Given the description of an element on the screen output the (x, y) to click on. 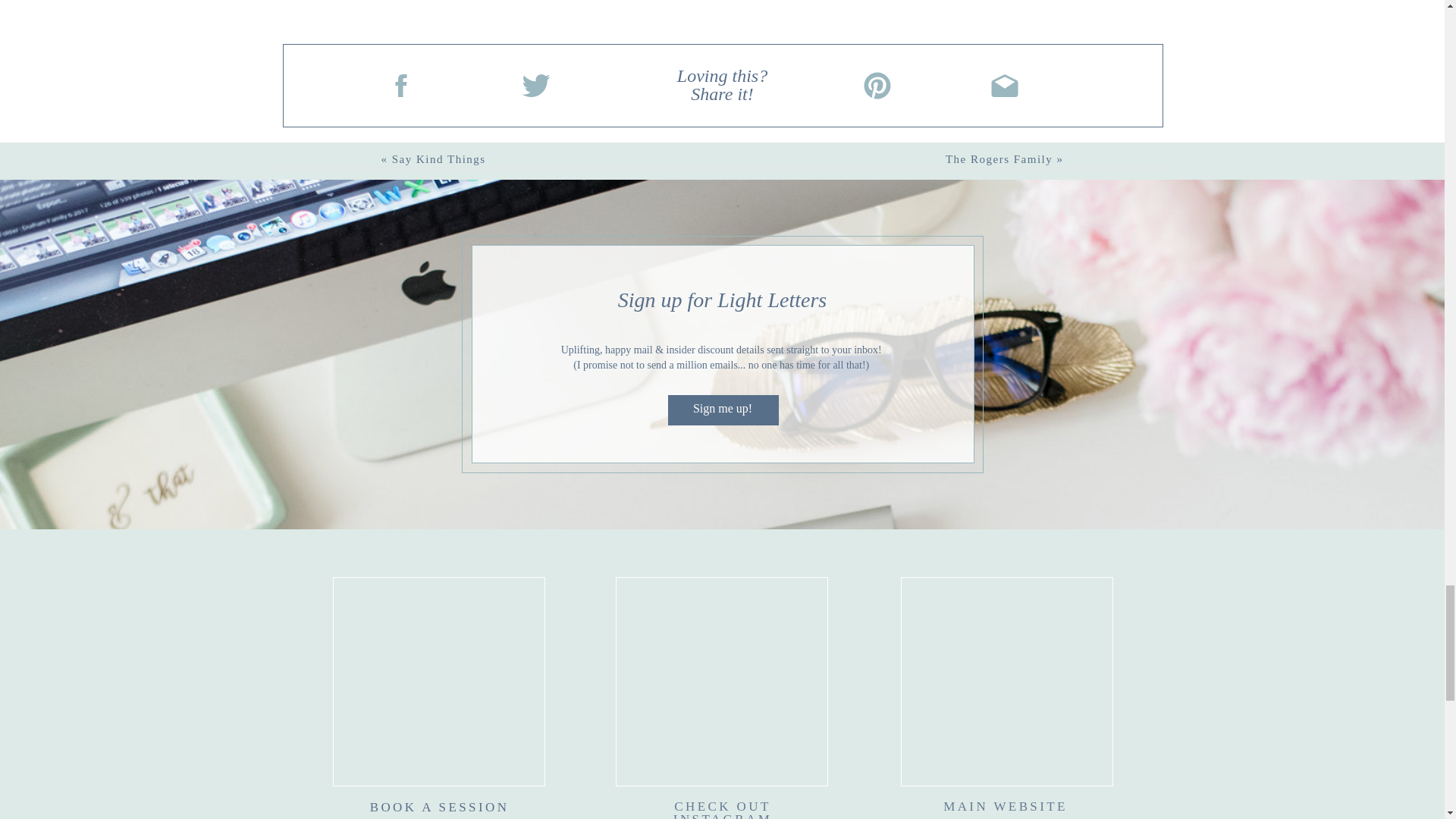
Say Kind Things (438, 159)
The Rogers Family (998, 159)
CHECK OUT INSTAGRAM (721, 809)
BOOK A SESSION (439, 809)
Sign me up! (722, 409)
MAIN WEBSITE (1005, 809)
